Given the description of an element on the screen output the (x, y) to click on. 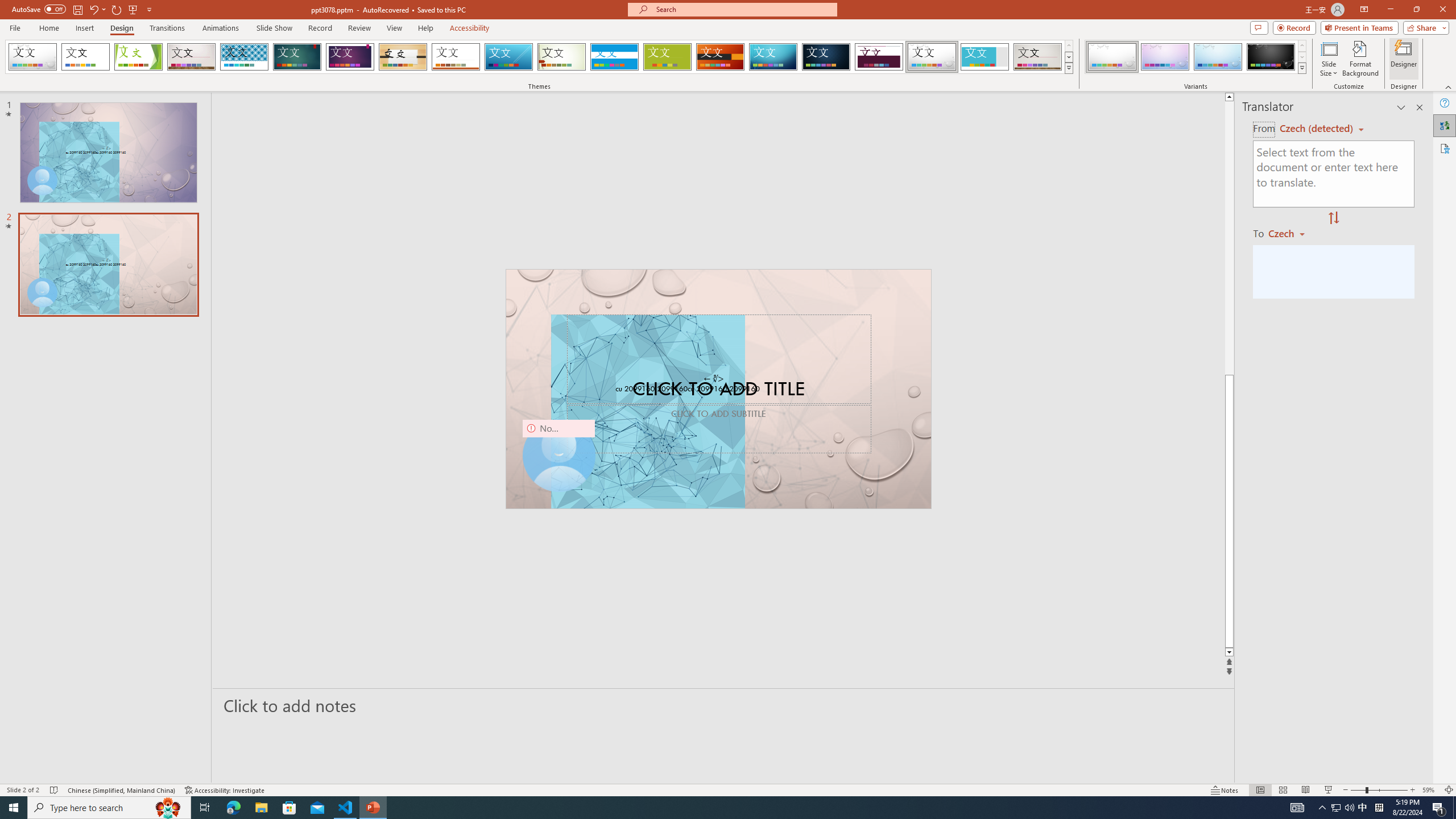
Swap "from" and "to" languages. (1333, 218)
Frame (984, 56)
Format Background (1360, 58)
Czech (detected) (1317, 128)
AutomationID: SlideThemesGallery (539, 56)
Circuit (772, 56)
